Given the description of an element on the screen output the (x, y) to click on. 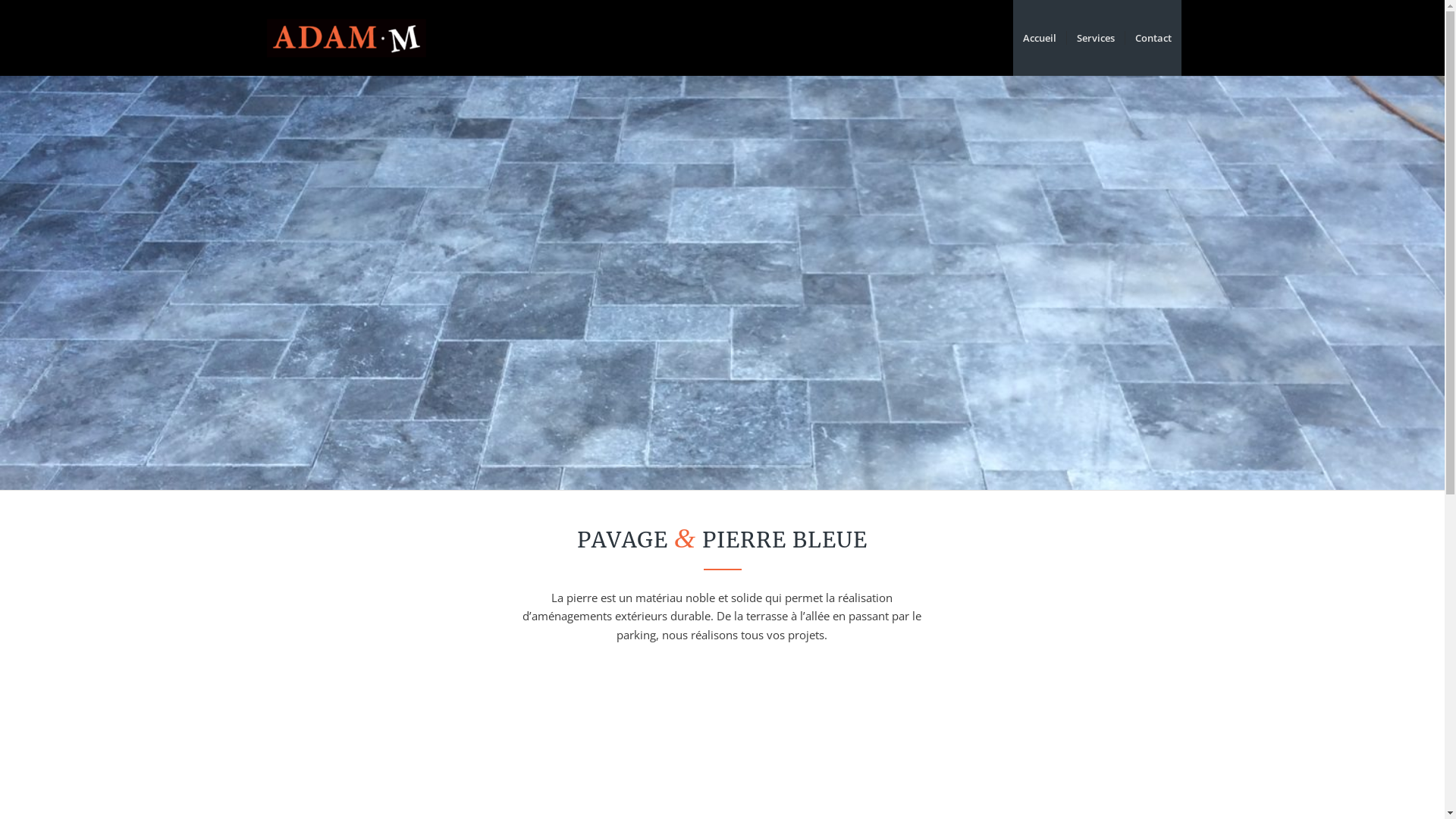
Contact Element type: text (1151, 37)
Services Element type: text (1095, 37)
Accueil Element type: text (1039, 37)
